Given the description of an element on the screen output the (x, y) to click on. 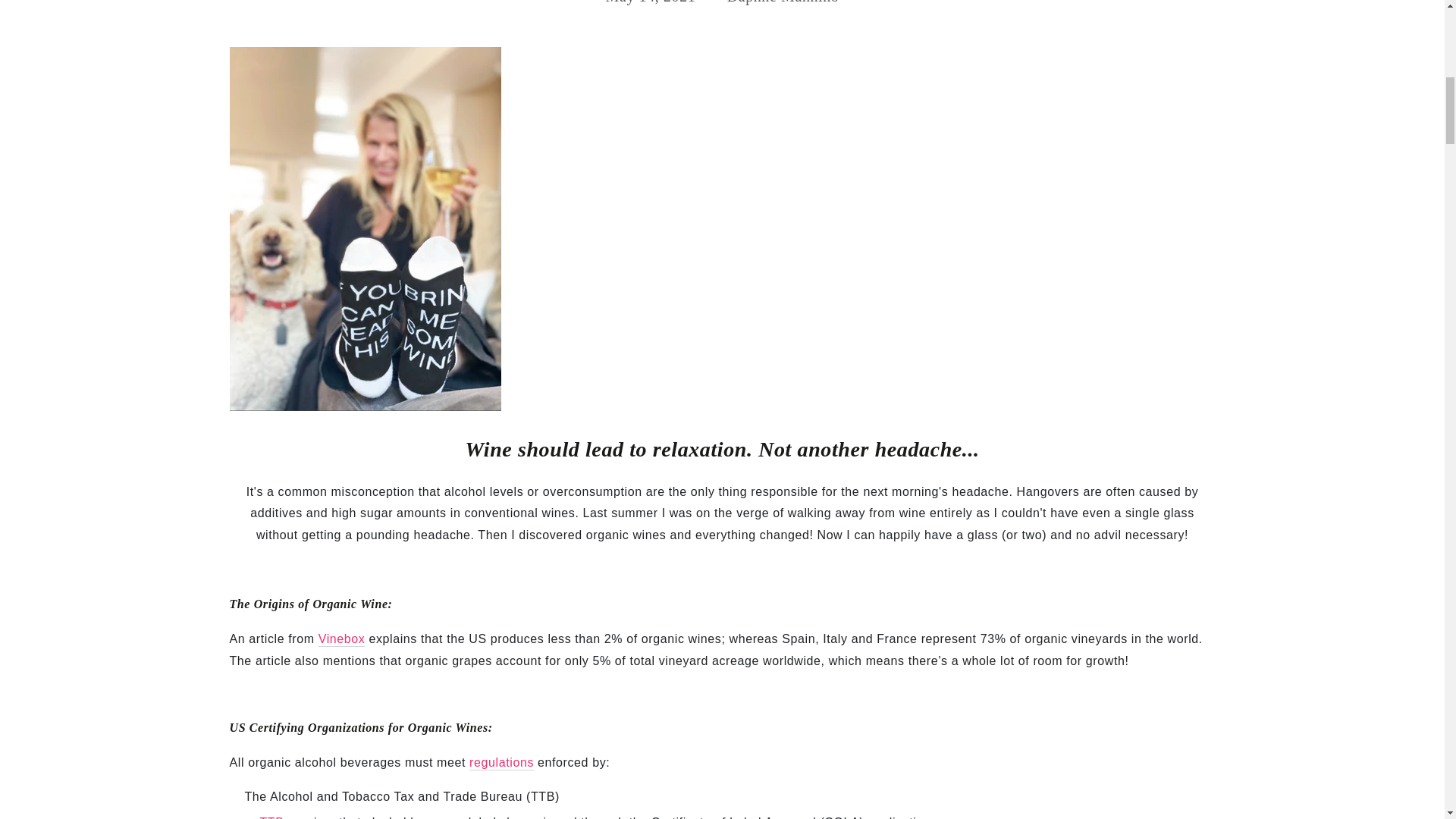
Why you should be drinking organic wine  (341, 639)
Alcohol and Tobacco Tax and Trade Bereau (271, 817)
Labeling Organic Wine (501, 762)
